Given the description of an element on the screen output the (x, y) to click on. 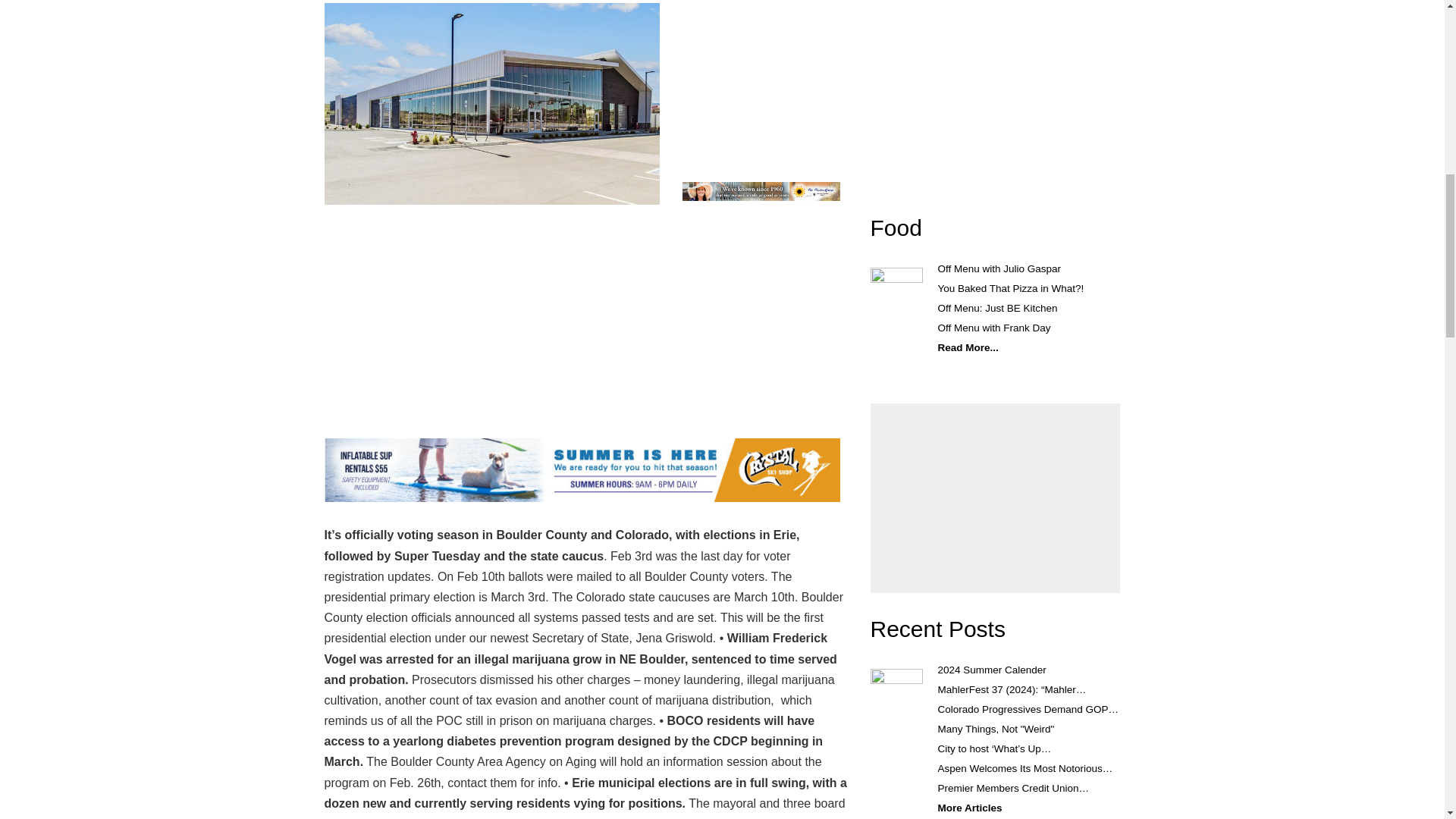
You Baked That Pizza in What?! (1010, 288)
July 2024 (987, 84)
Off Menu with Julio Gaspar (999, 268)
Top Stories from our latest issue. (938, 628)
Fabulous food and great atmosphere. (896, 291)
Off Menu with Frank Day (993, 327)
Fabulous food and great atmosphere. (895, 227)
Off Menu: Just BE Kitchen (997, 307)
Top Stories from our latest issue. (896, 693)
